Given the description of an element on the screen output the (x, y) to click on. 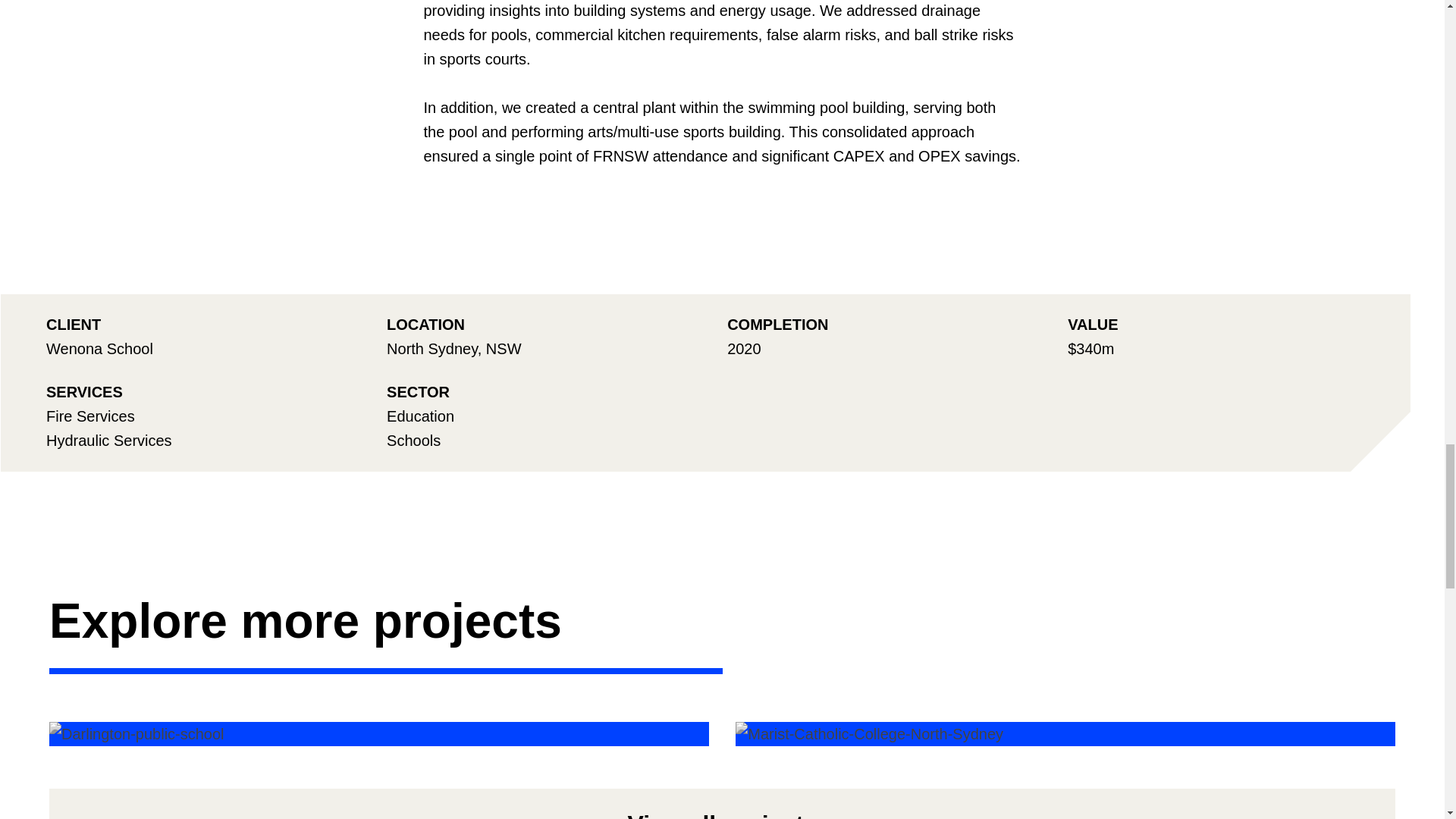
Darlington-public-school - WSce (136, 733)
View all projects (721, 803)
Marist-Catholic-College-North-Sydney - WSce (869, 733)
